Given the description of an element on the screen output the (x, y) to click on. 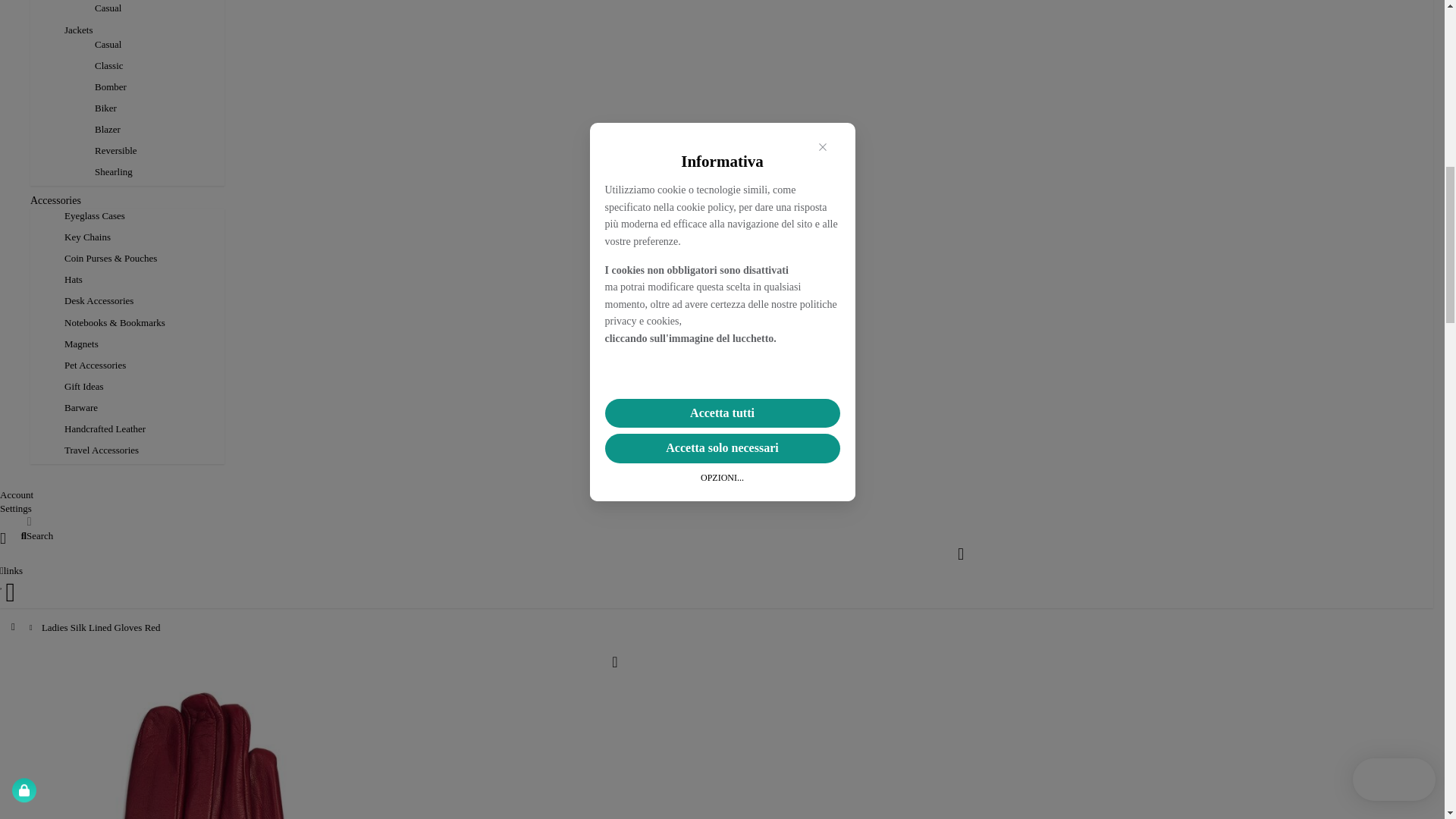
Casual (107, 8)
Jackets (79, 28)
Casual (107, 43)
